Given the description of an element on the screen output the (x, y) to click on. 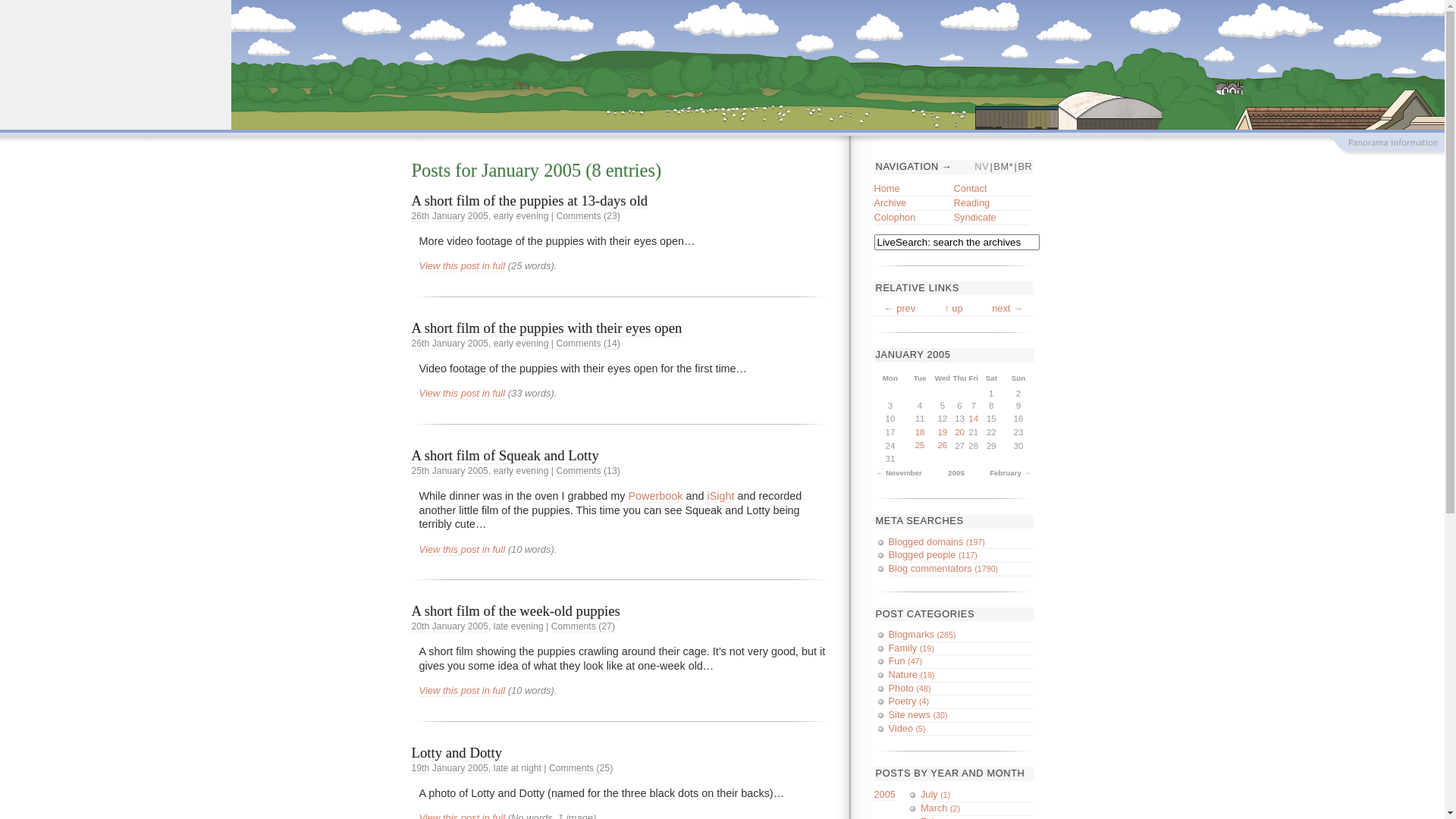
Comments (25) Element type: text (580, 768)
Home Element type: text (911, 190)
March (2) Element type: text (976, 808)
January Element type: text (448, 216)
19 Element type: text (942, 432)
Comments (27) Element type: text (583, 626)
Powerbook Element type: text (654, 495)
A short film of the puppies at 13-days old Element type: text (529, 200)
View this post in full Element type: text (461, 549)
14 Element type: text (973, 419)
JANUARY Element type: text (899, 354)
Lotty and Dotty Element type: text (456, 752)
2005 Element type: text (477, 626)
Contact Element type: text (991, 190)
View extra information on the weather banner Element type: hover (1385, 145)
Archive Element type: text (911, 204)
Blog commentators (1790) Element type: text (960, 569)
Comments (14) Element type: text (587, 343)
2005 Element type: text (938, 354)
Colophon Element type: text (911, 219)
2005 Element type: text (561, 170)
Reading Element type: text (991, 204)
January Element type: text (448, 626)
25 Element type: text (919, 445)
Blogged people (117) Element type: text (960, 555)
26th Element type: text (420, 343)
Search the blog archives Element type: text (79, 7)
2005 Element type: text (477, 343)
iSight Element type: text (720, 495)
2005 Element type: text (477, 470)
A short film of Squeak and Lotty Element type: text (504, 455)
26 Element type: text (942, 445)
Video (5) Element type: text (960, 728)
2005 Element type: text (477, 768)
Site news (30) Element type: text (960, 715)
January Element type: text (510, 170)
View this post in full Element type: text (461, 393)
20 Element type: text (959, 432)
Family (19) Element type: text (960, 648)
January Element type: text (448, 343)
Blogmarks (285) Element type: text (960, 635)
A short film of the puppies with their eyes open Element type: text (546, 328)
Comments (13) Element type: text (587, 470)
Poetry (4) Element type: text (960, 702)
Syndicate Element type: text (991, 219)
25th Element type: text (420, 470)
18 Element type: text (919, 432)
2005 Element type: text (955, 473)
January Element type: text (448, 470)
2005 Element type: text (477, 216)
Fun (47) Element type: text (960, 661)
19th Element type: text (420, 768)
July (1) Element type: text (976, 795)
2005 Element type: text (883, 794)
View this post in full Element type: text (461, 690)
Blogged domains (197) Element type: text (960, 542)
20th Element type: text (420, 626)
26th Element type: text (420, 216)
View this post in full Element type: text (461, 266)
Nature (19) Element type: text (960, 675)
Photo (48) Element type: text (960, 689)
A short film of the week-old puppies Element type: text (515, 610)
January Element type: text (448, 768)
Comments (23) Element type: text (587, 216)
